Given the description of an element on the screen output the (x, y) to click on. 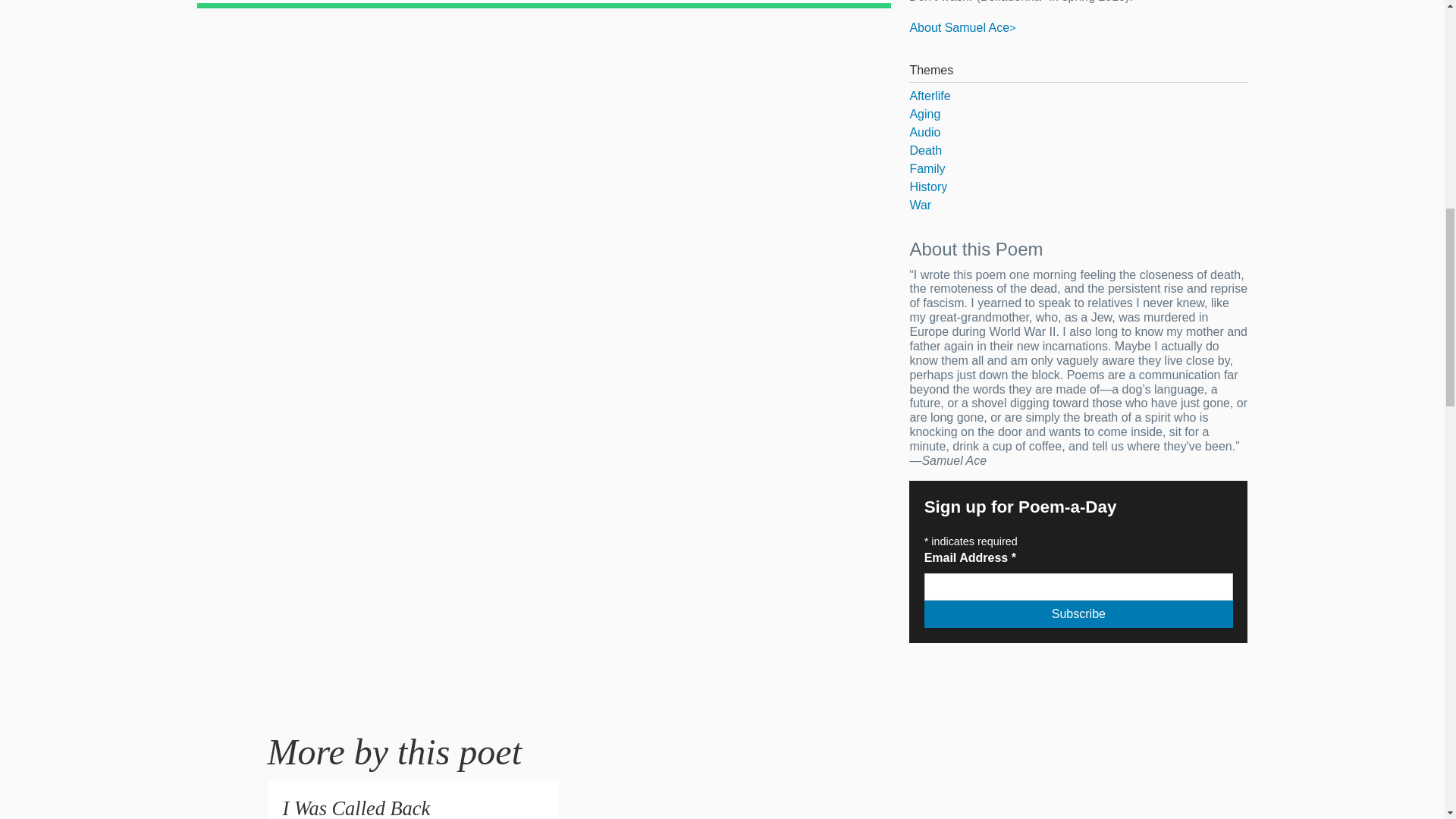
Afterlife (1077, 95)
Subscribe (1078, 614)
Audio (1077, 132)
About Samuel Ace (961, 27)
Death (1077, 150)
Aging (1077, 114)
